Given the description of an element on the screen output the (x, y) to click on. 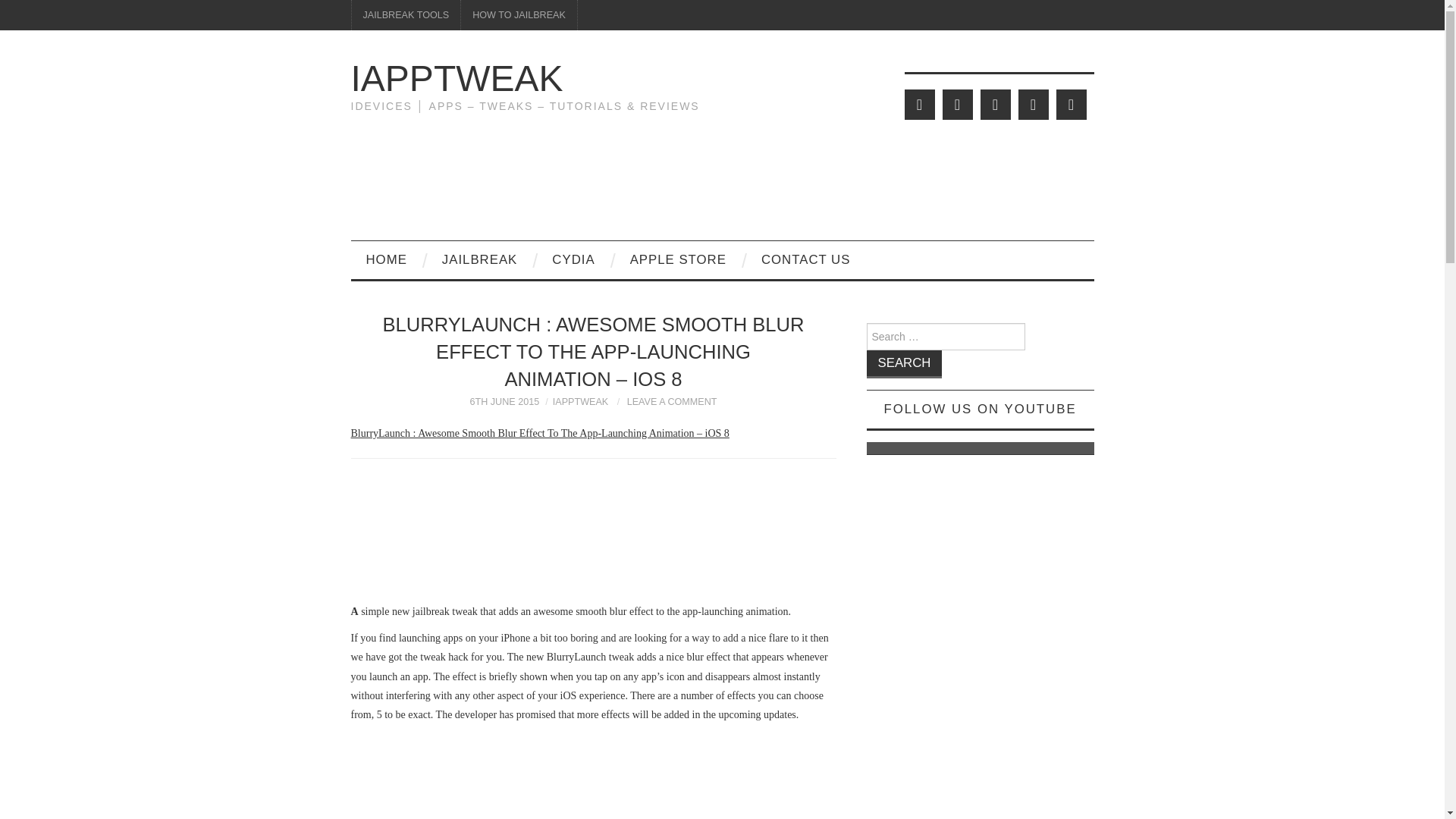
LEAVE A COMMENT (672, 401)
IAPPTWEAK (456, 78)
APPLE STORE (677, 259)
CONTACT US (805, 259)
YouTube (1032, 104)
CYDIA (573, 259)
Advertisement (592, 535)
Search (904, 364)
Search (904, 364)
Advertisement (592, 775)
Facebook (957, 104)
Search (904, 364)
Twitter (919, 104)
iappTweak (456, 78)
JAILBREAK TOOLS (406, 15)
